Given the description of an element on the screen output the (x, y) to click on. 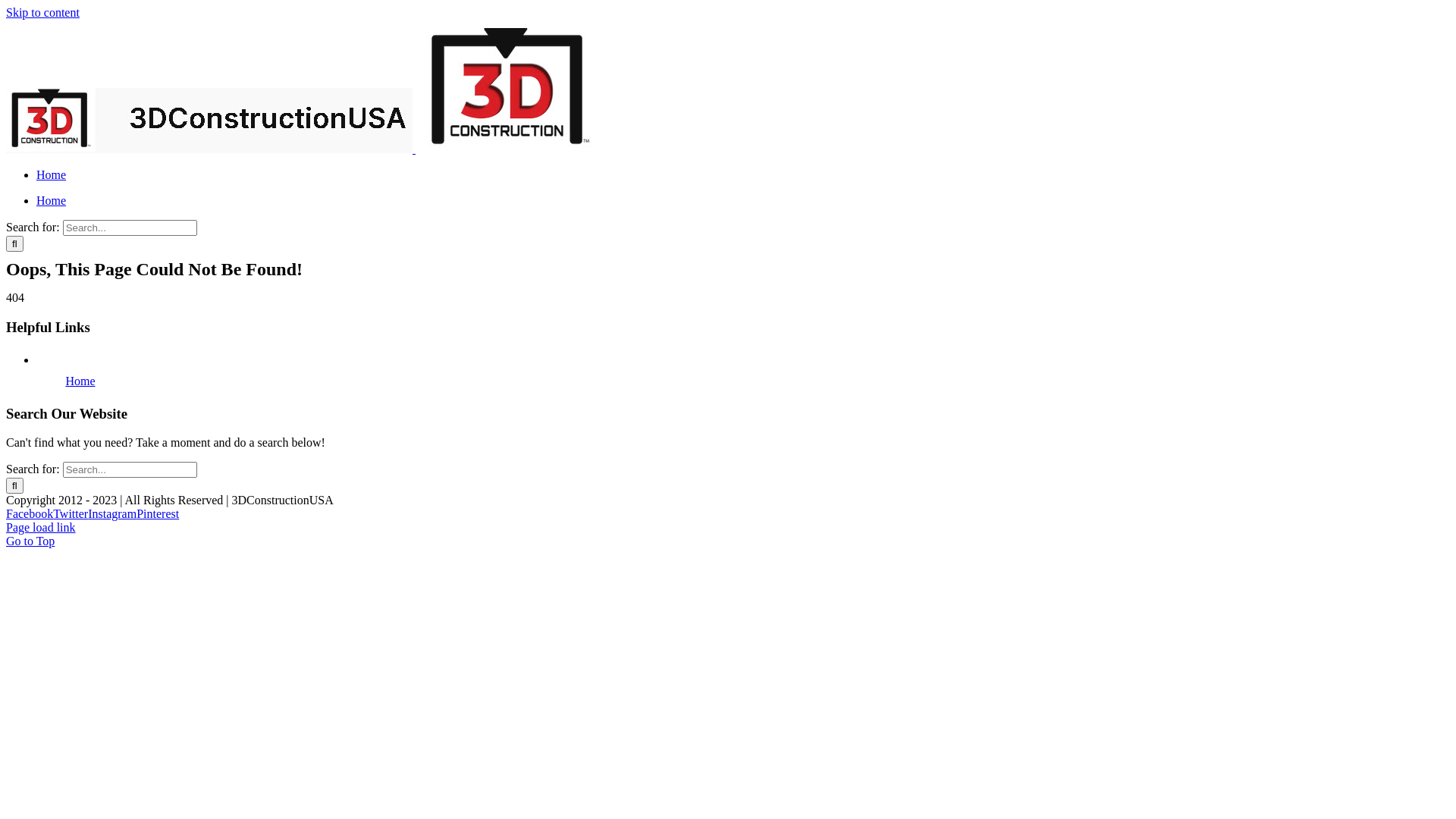
Home Element type: text (50, 174)
Pinterest Element type: text (157, 513)
Skip to content Element type: text (42, 12)
Facebook Element type: text (29, 513)
Home Element type: text (79, 380)
Page load link Element type: text (40, 526)
Home Element type: text (50, 200)
Instagram Element type: text (111, 513)
Go to Top Element type: text (30, 540)
Twitter Element type: text (70, 513)
